Given the description of an element on the screen output the (x, y) to click on. 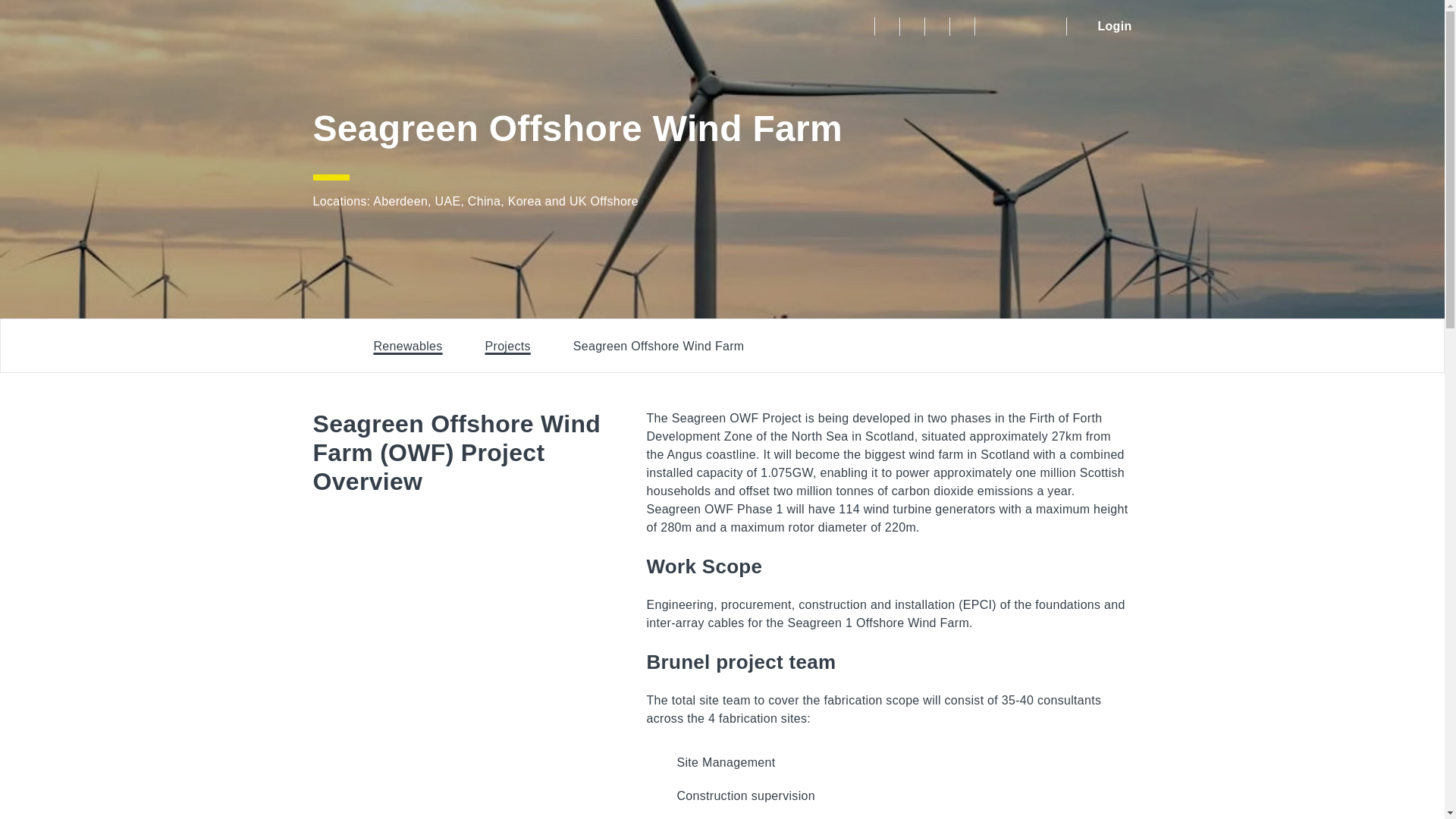
Renewables (407, 346)
Projects (507, 346)
Seagreen Offshore Wind Farm (658, 346)
Login (1103, 25)
